Given the description of an element on the screen output the (x, y) to click on. 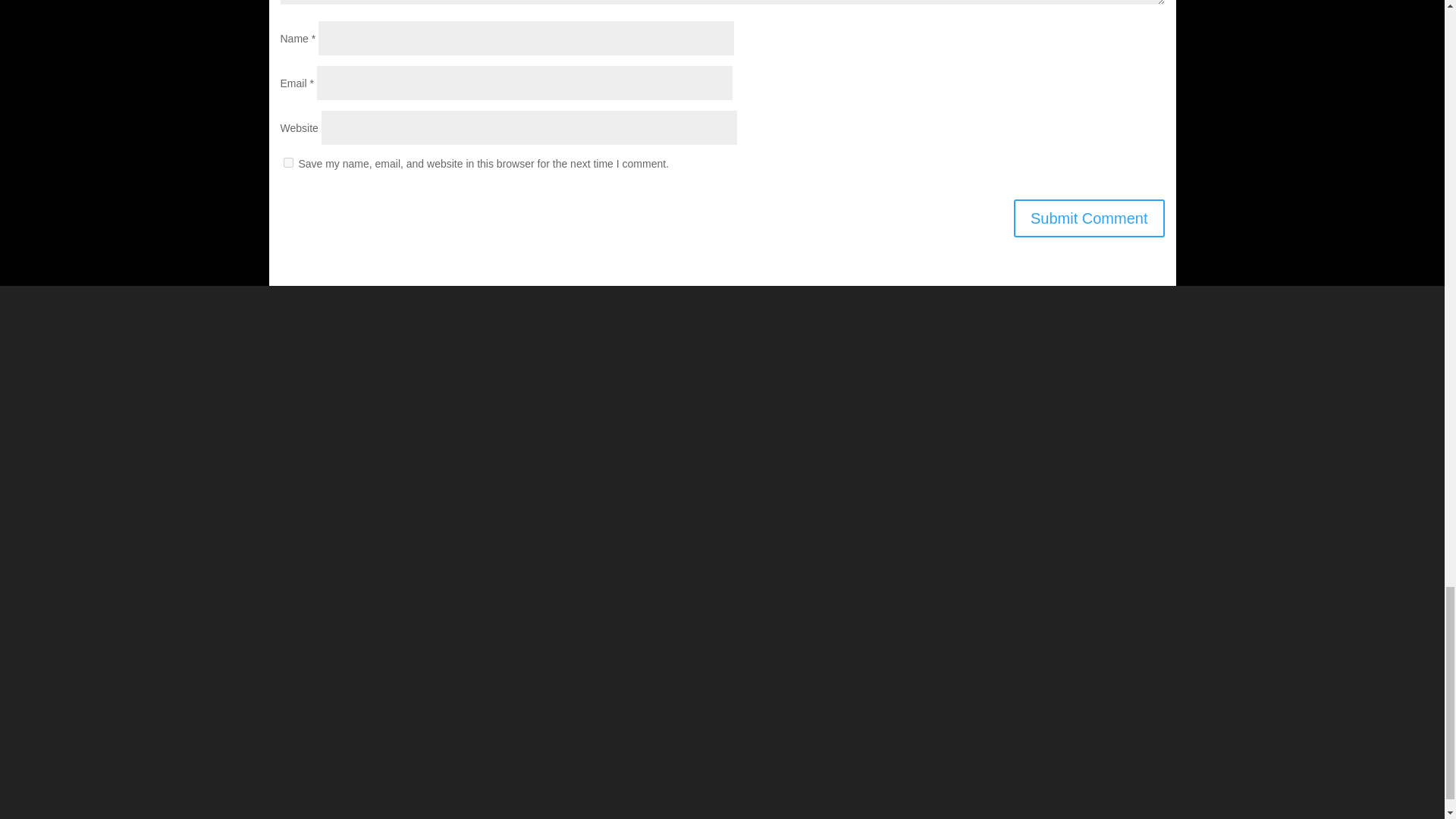
Submit Comment (1088, 218)
Submit Comment (1088, 218)
yes (288, 162)
